Given the description of an element on the screen output the (x, y) to click on. 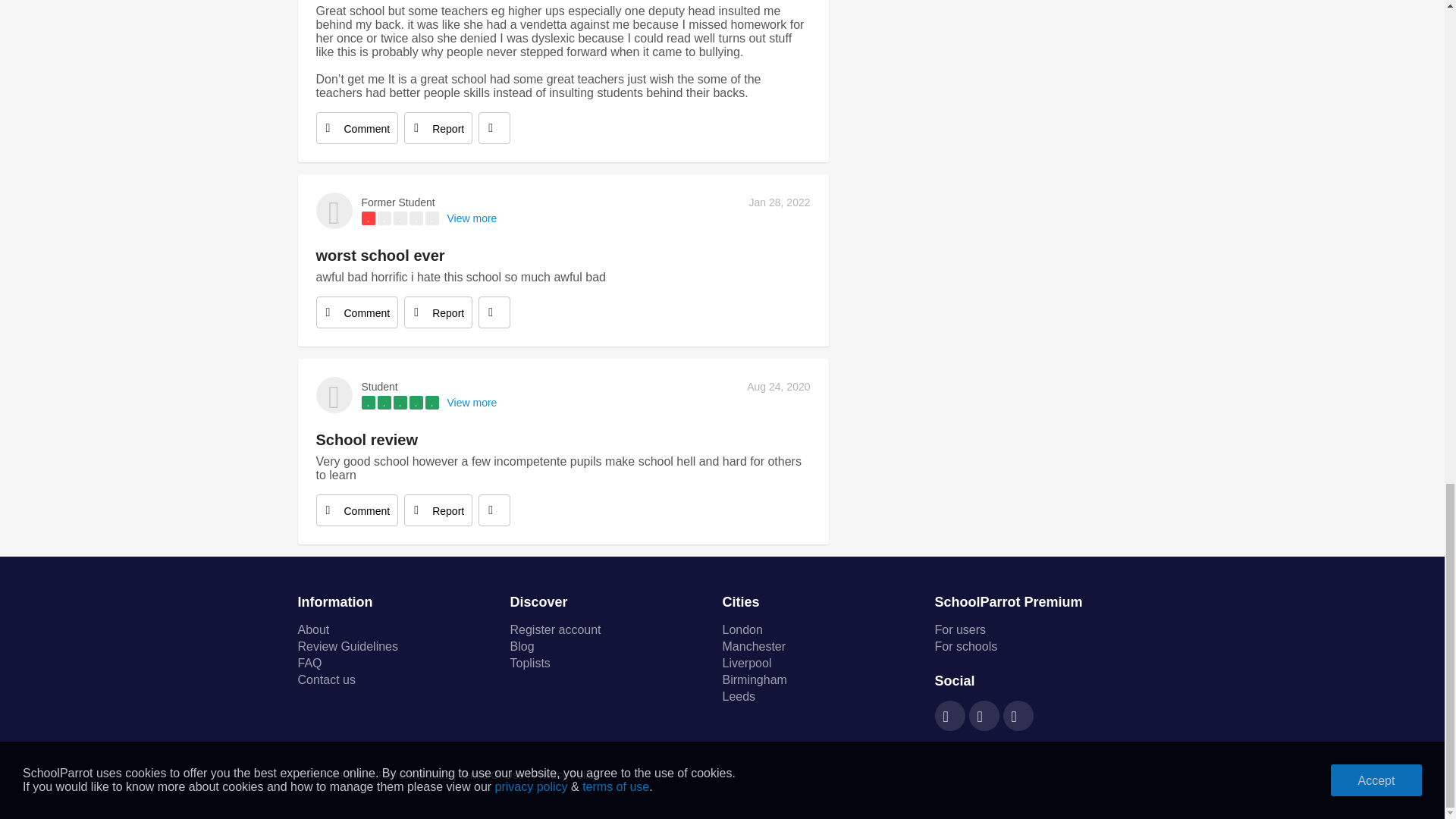
Comment (356, 510)
Report (437, 128)
Facebook (948, 716)
View more (471, 402)
Comment (356, 312)
View more (471, 218)
Comment (356, 128)
Twitter (983, 716)
LinkedIn (1017, 716)
Report (437, 312)
Report (437, 510)
